Given the description of an element on the screen output the (x, y) to click on. 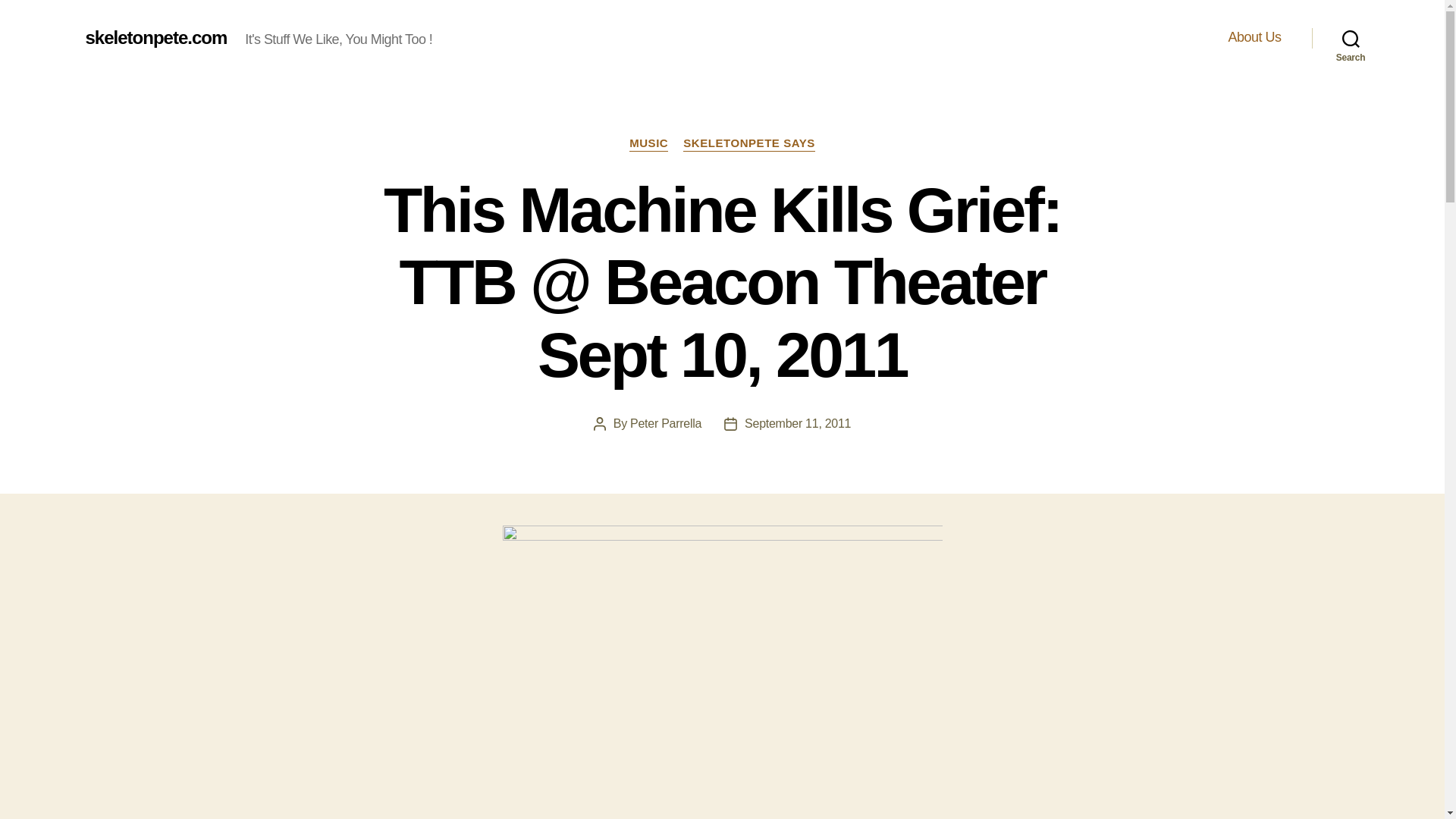
MUSIC (648, 143)
Peter Parrella (665, 422)
SKELETONPETE SAYS (748, 143)
TTBtourshirt (722, 671)
September 11, 2011 (797, 422)
Search (1350, 37)
About Us (1254, 37)
skeletonpete.com (155, 37)
